Given the description of an element on the screen output the (x, y) to click on. 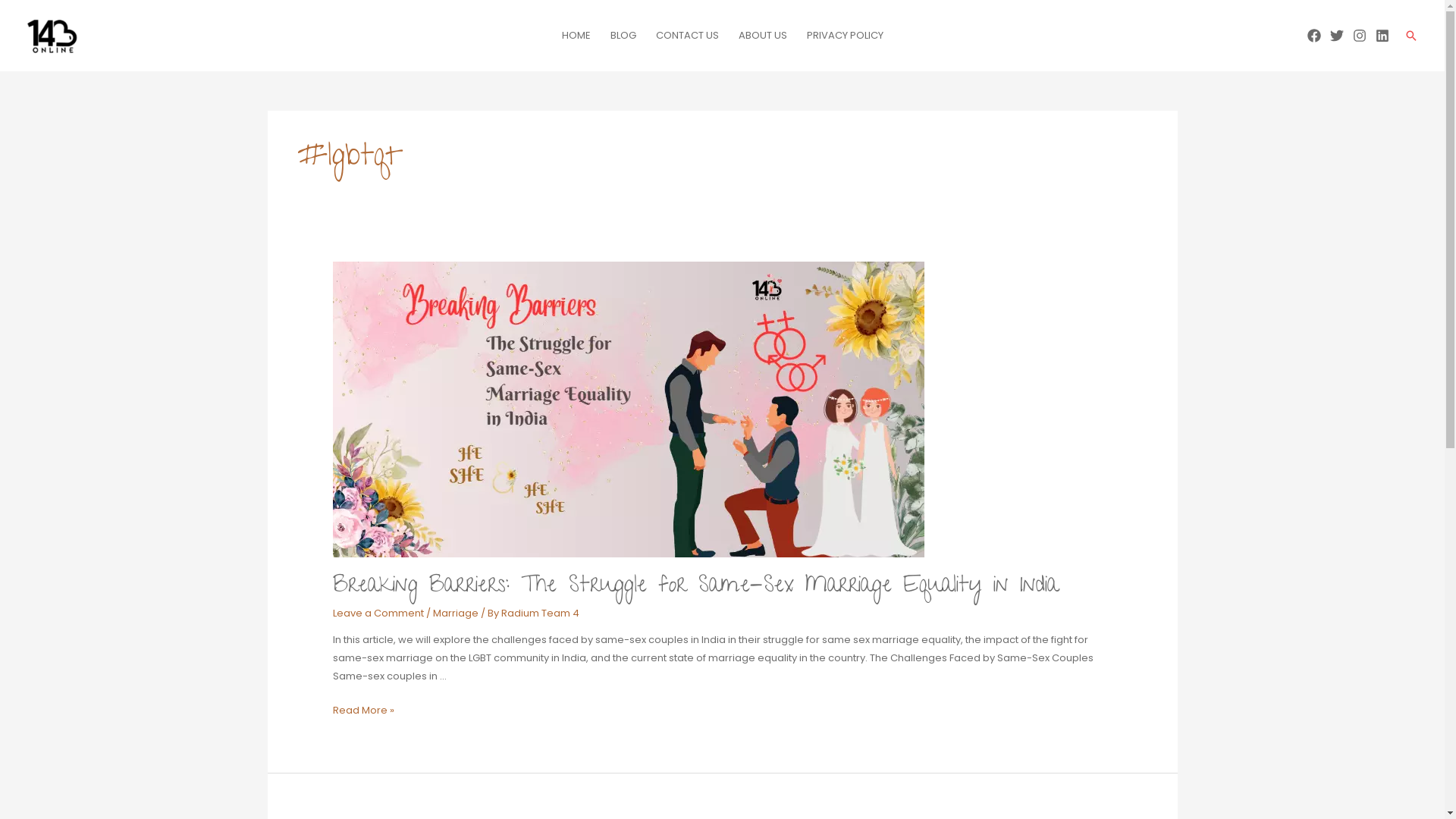
CONTACT US Element type: text (687, 35)
Leave a Comment Element type: text (377, 612)
BLOG Element type: text (623, 35)
PRIVACY POLICY Element type: text (844, 35)
ABOUT US Element type: text (762, 35)
HOME Element type: text (576, 35)
Radium Team 4 Element type: text (540, 612)
Search Element type: text (1411, 35)
Marriage Element type: text (455, 612)
